Given the description of an element on the screen output the (x, y) to click on. 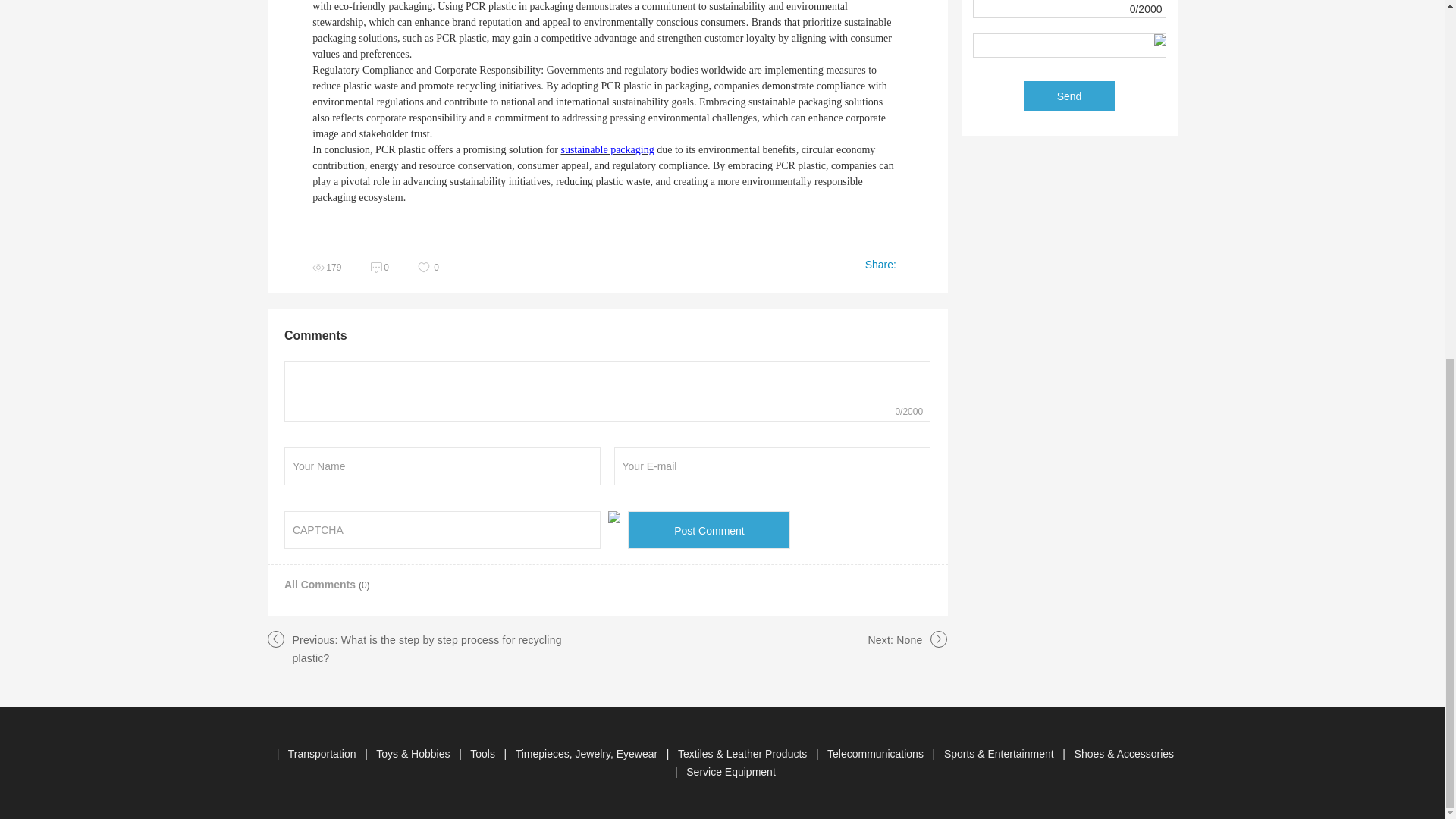
Post Comment (708, 529)
Send (1069, 96)
